Given the description of an element on the screen output the (x, y) to click on. 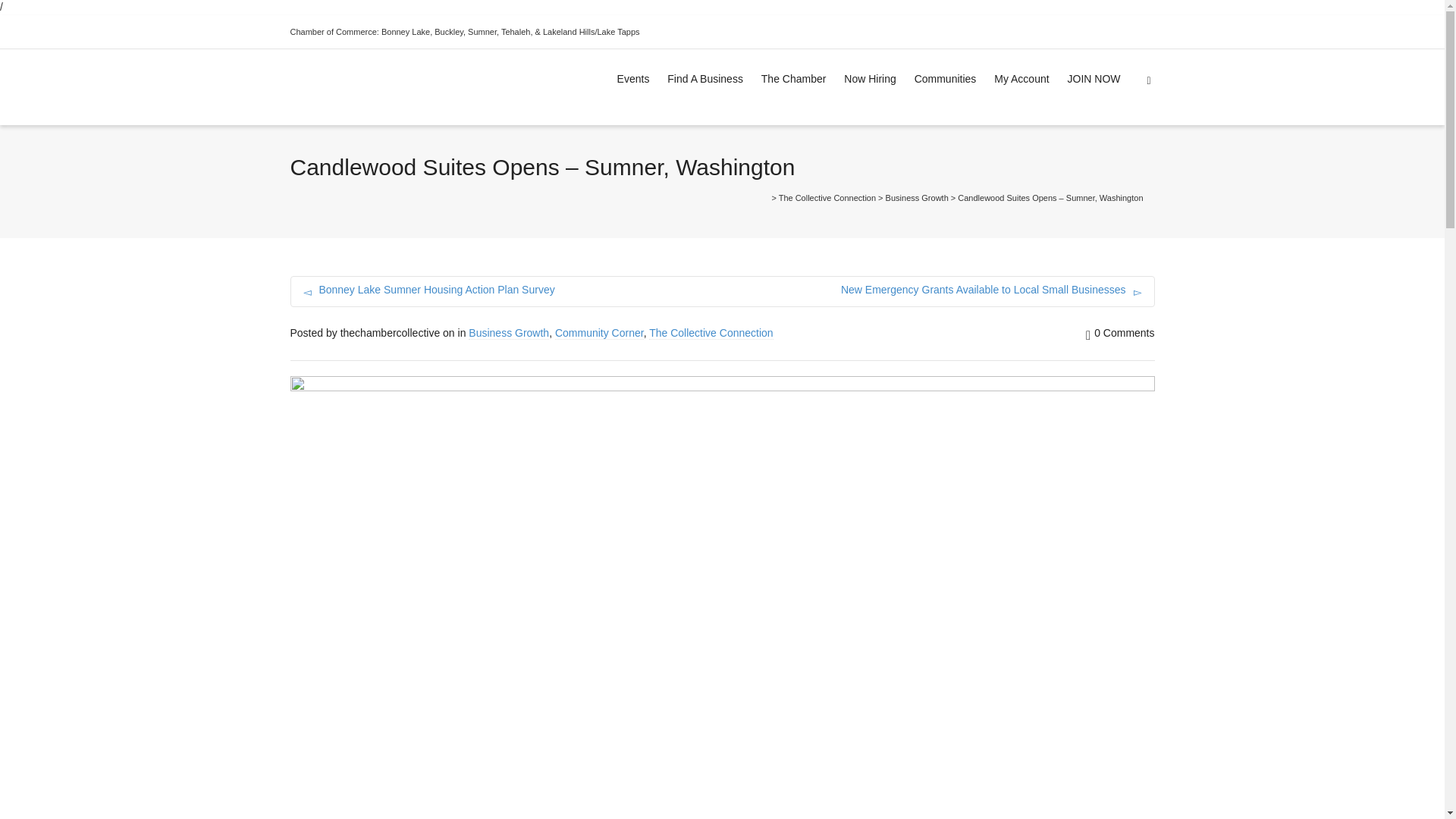
Go to the The Collective Connection Category archives. (827, 197)
Go to the Business Growth Category archives. (917, 197)
Events (633, 80)
